Given the description of an element on the screen output the (x, y) to click on. 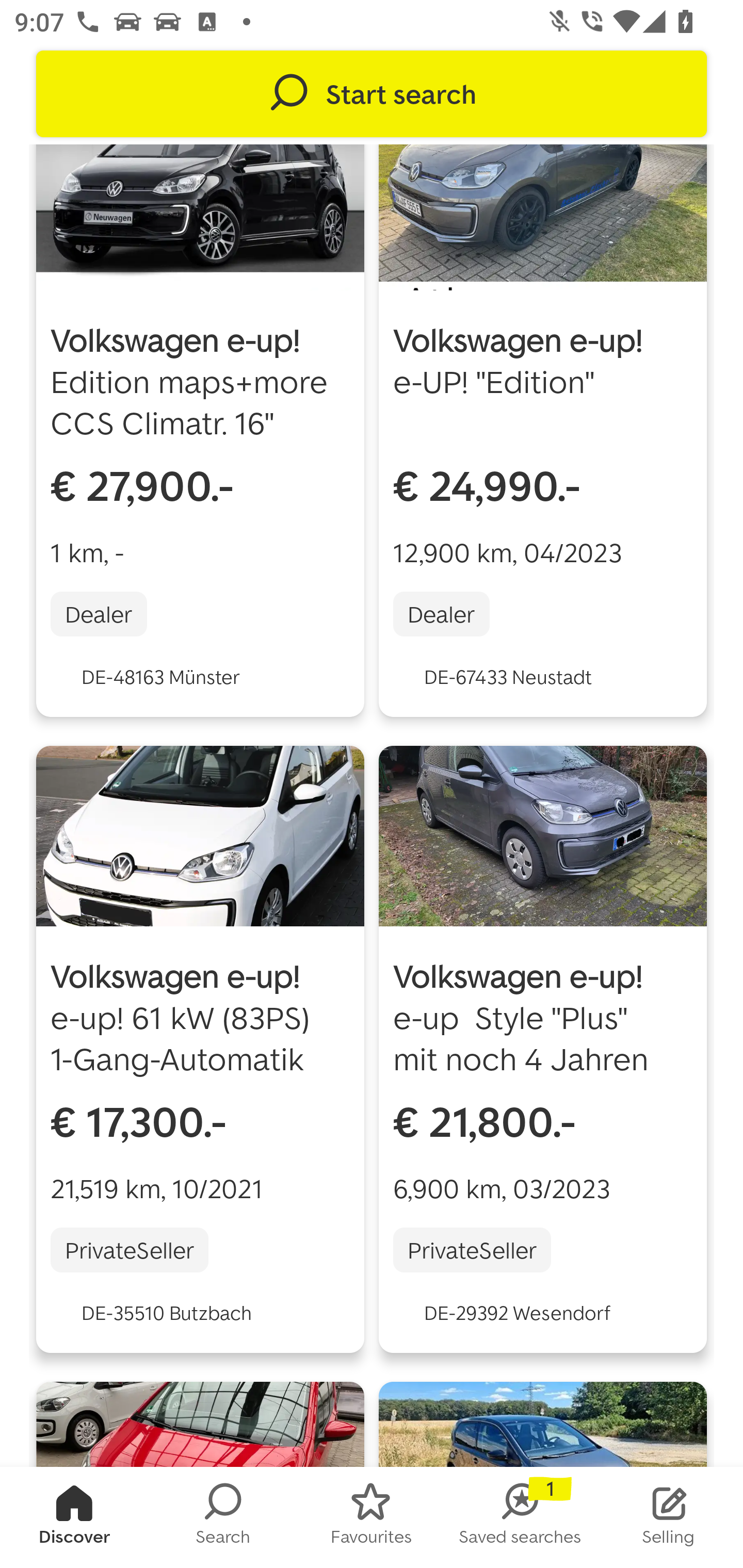
Start search (371, 93)
HOMESCREEN Discover (74, 1517)
SEARCH Search (222, 1517)
FAVORITES Favourites (371, 1517)
SAVED_SEARCHES Saved searches 1 (519, 1517)
STOCK_LIST Selling (668, 1517)
